Given the description of an element on the screen output the (x, y) to click on. 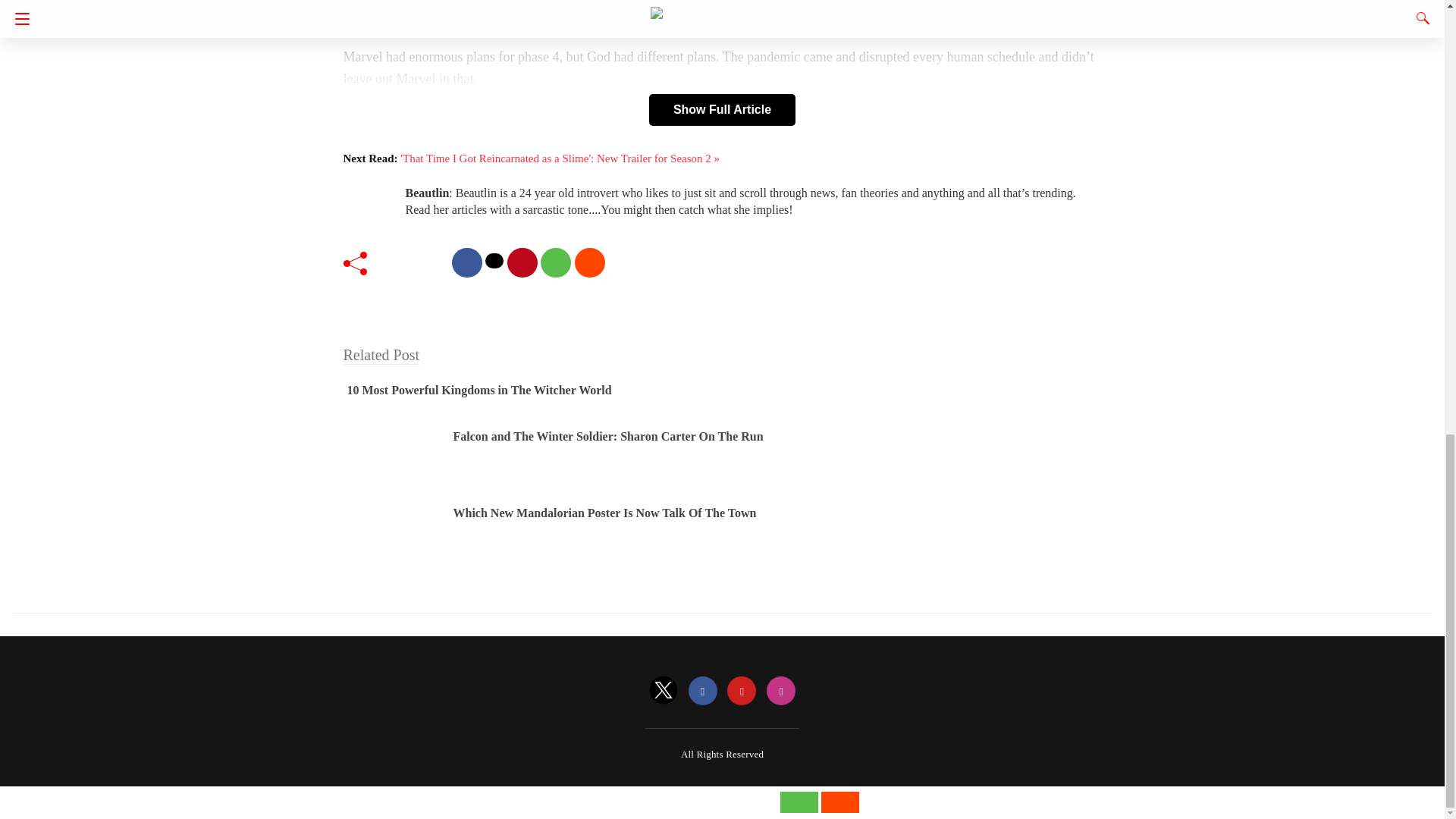
youtube profile (740, 691)
reddit share (590, 262)
pinterest share (521, 262)
twitter share (493, 260)
Which New Mandalorian Poster Is Now Talk Of The Town (604, 512)
facebook profile (702, 691)
facebook share (466, 262)
Show Full Article (721, 110)
twitter profile (663, 691)
Which New Mandalorian Poster Is Now Talk Of The Town (604, 512)
10 Most Powerful Kingdoms in The Witcher World (479, 390)
instagram profile (780, 691)
Falcon and The Winter Soldier: Sharon Carter On The Run (607, 436)
10 Most Powerful Kingdoms in The Witcher World (479, 390)
Falcon and The Winter Soldier: Sharon Carter On The Run (607, 436)
